Given the description of an element on the screen output the (x, y) to click on. 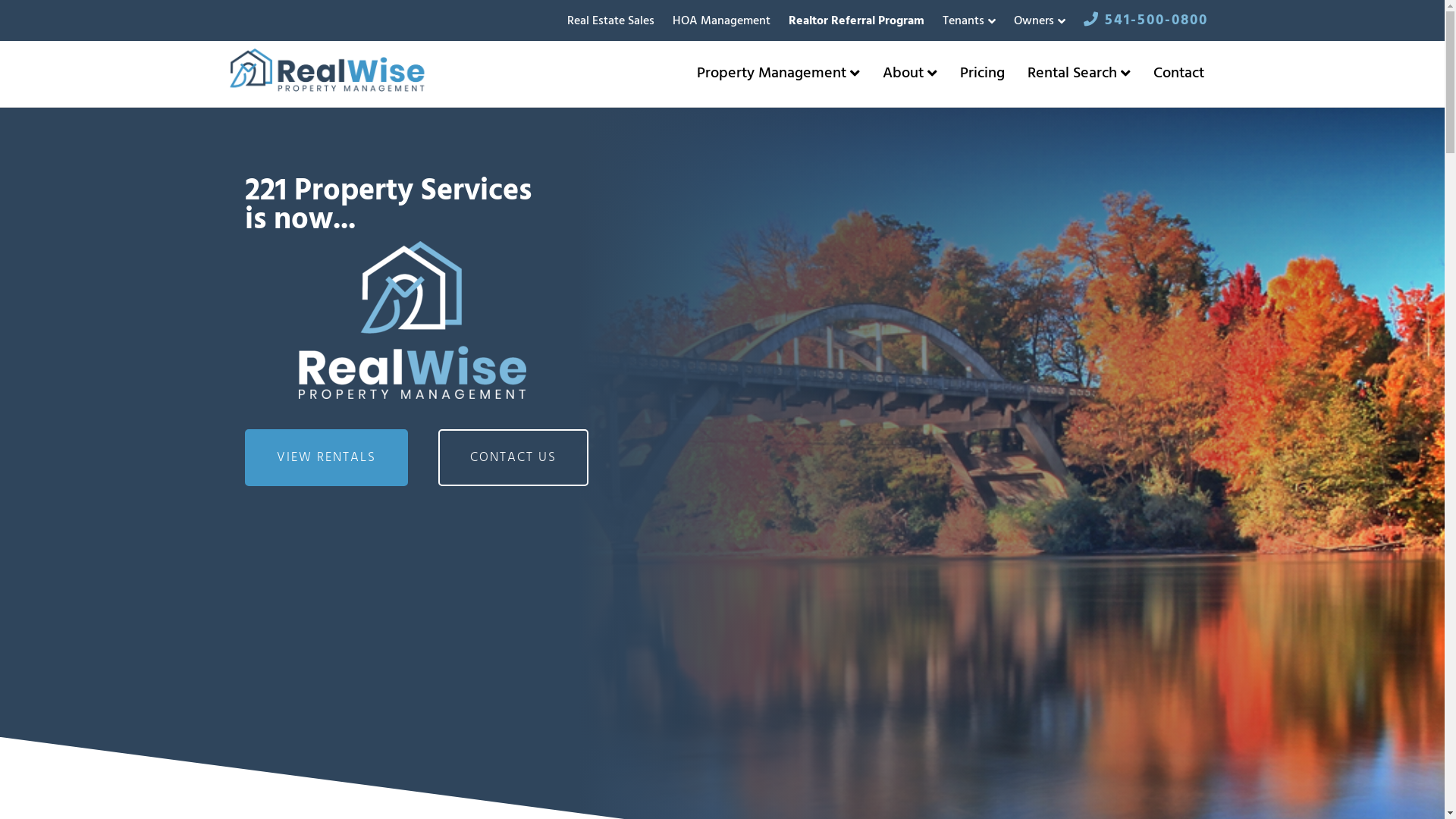
VIEW RENTALS Element type: text (325, 457)
Logo-RWPM-Dark-Stacked Element type: hover (412, 319)
541-500-0800 Element type: text (1144, 19)
Real Estate Sales Element type: text (610, 21)
HOA Management Element type: text (720, 21)
Realtor Referral Program Element type: text (856, 21)
Contact Element type: text (1178, 73)
Rental Search Element type: text (1079, 73)
Owners Element type: text (1038, 21)
CONTACT US Element type: text (513, 457)
Tenants Element type: text (968, 21)
Pricing Element type: text (981, 73)
Property Management Element type: text (778, 73)
About Element type: text (908, 73)
